Given the description of an element on the screen output the (x, y) to click on. 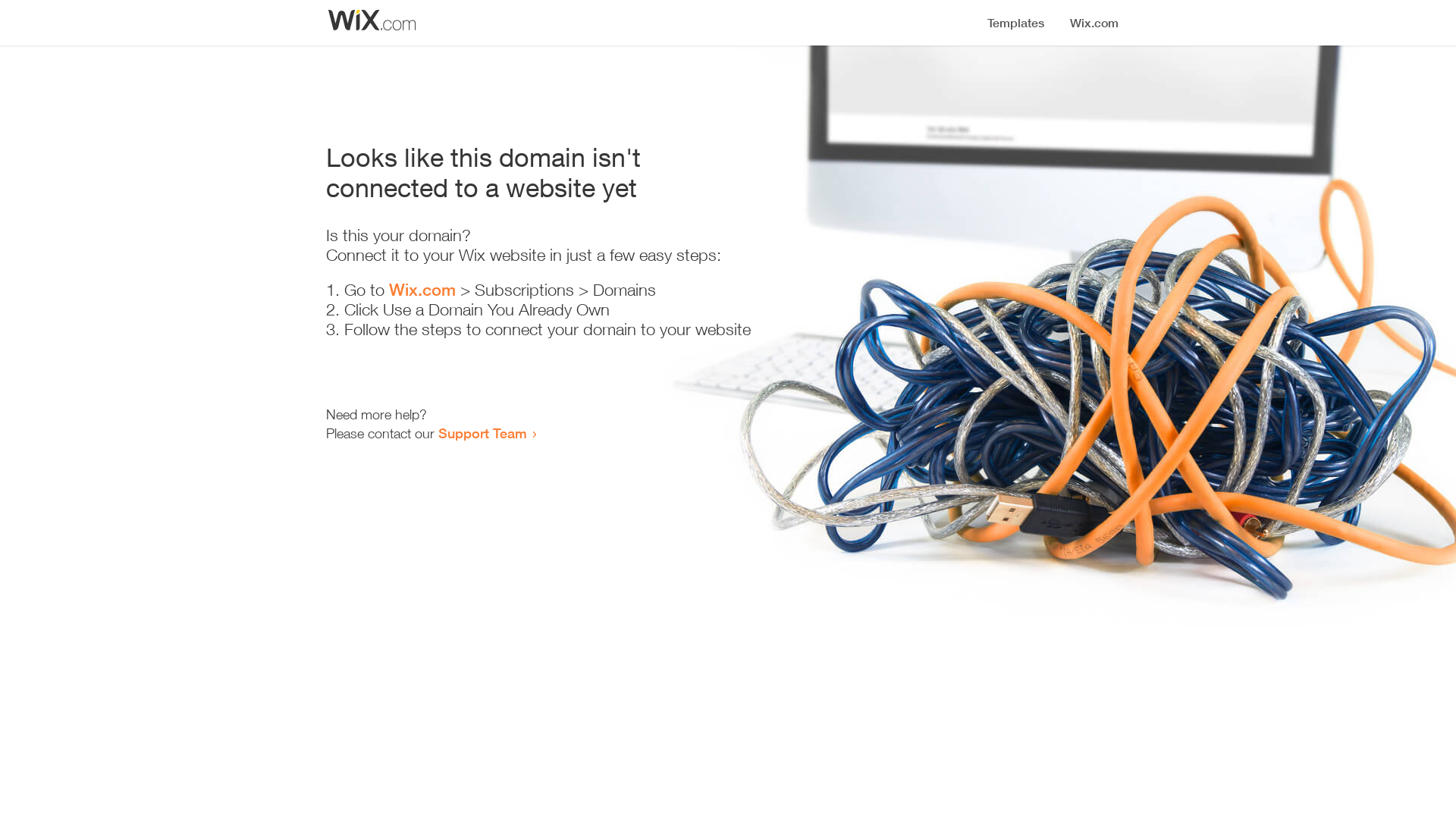
Support Team Element type: text (482, 432)
Wix.com Element type: text (422, 289)
